Given the description of an element on the screen output the (x, y) to click on. 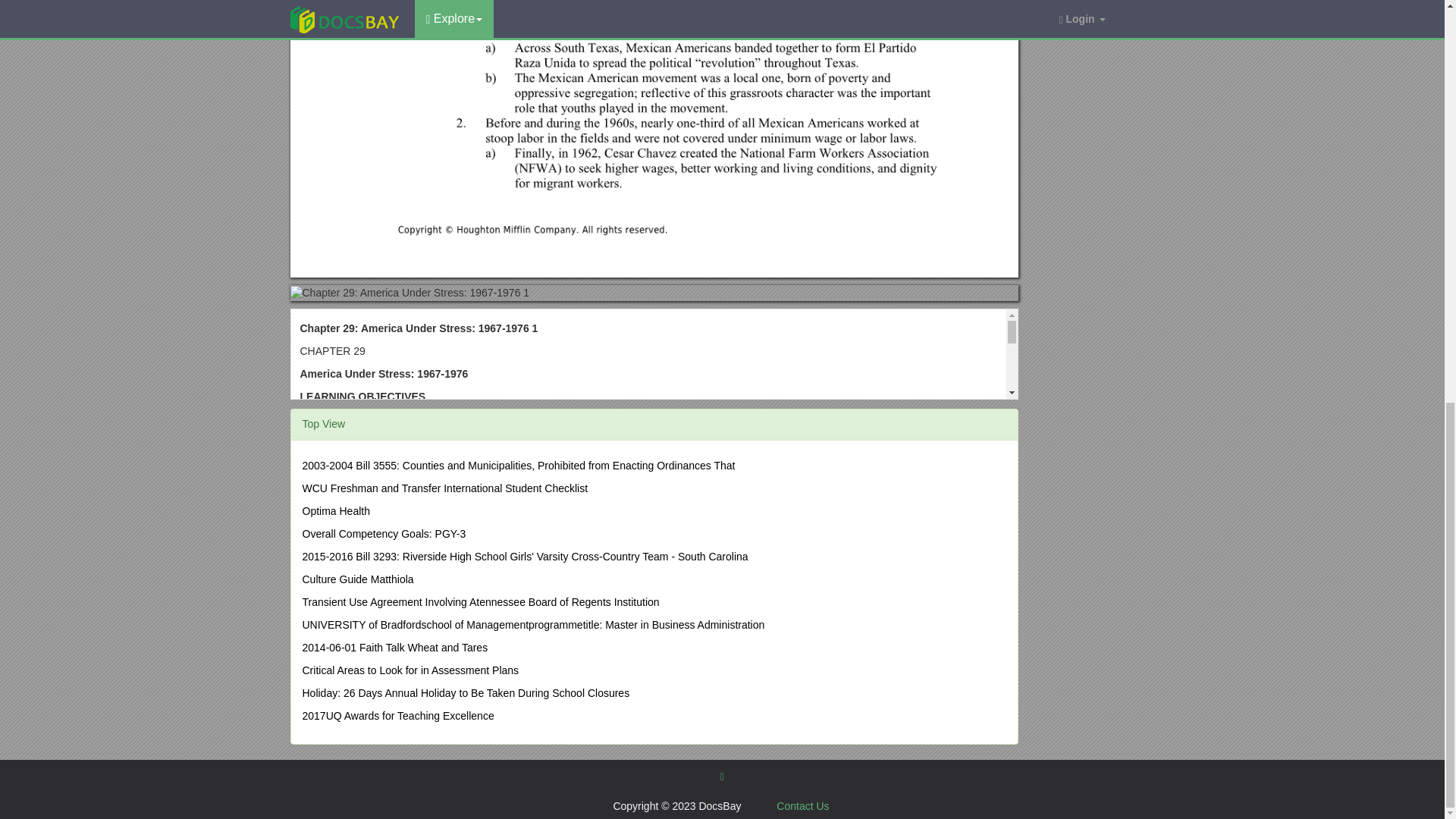
Optima Health (335, 510)
WCU Freshman and Transfer International Student Checklist (444, 488)
Culture Guide Matthiola (357, 579)
2014-06-01 Faith Talk Wheat and Tares (394, 647)
Contact Us (802, 806)
2017UQ Awards for Teaching Excellence (397, 715)
Critical Areas to Look for in Assessment Plans (409, 670)
Overall Competency Goals: PGY-3 (383, 533)
